Given the description of an element on the screen output the (x, y) to click on. 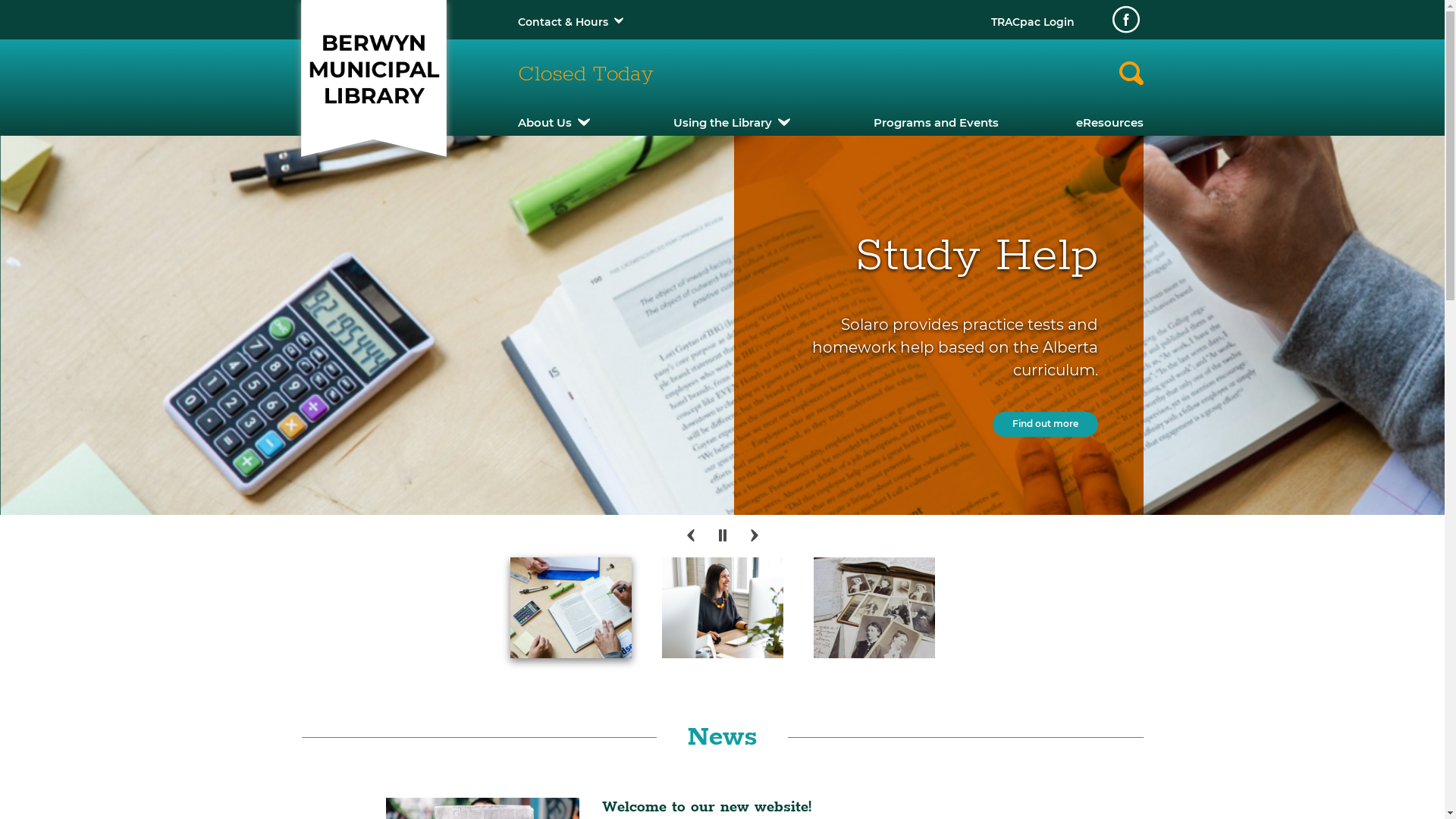
About Us Element type: text (544, 122)
Facebook Element type: hover (1125, 19)
Berwyn Municipal Library Element type: hover (372, 69)
Contact & Hours Element type: text (562, 21)
TRACpac Login Element type: text (1031, 21)
eResources Element type: text (1108, 122)
Find out more Element type: text (399, 465)
Using the Library Element type: text (722, 122)
Programs and Events Element type: text (935, 122)
